Given the description of an element on the screen output the (x, y) to click on. 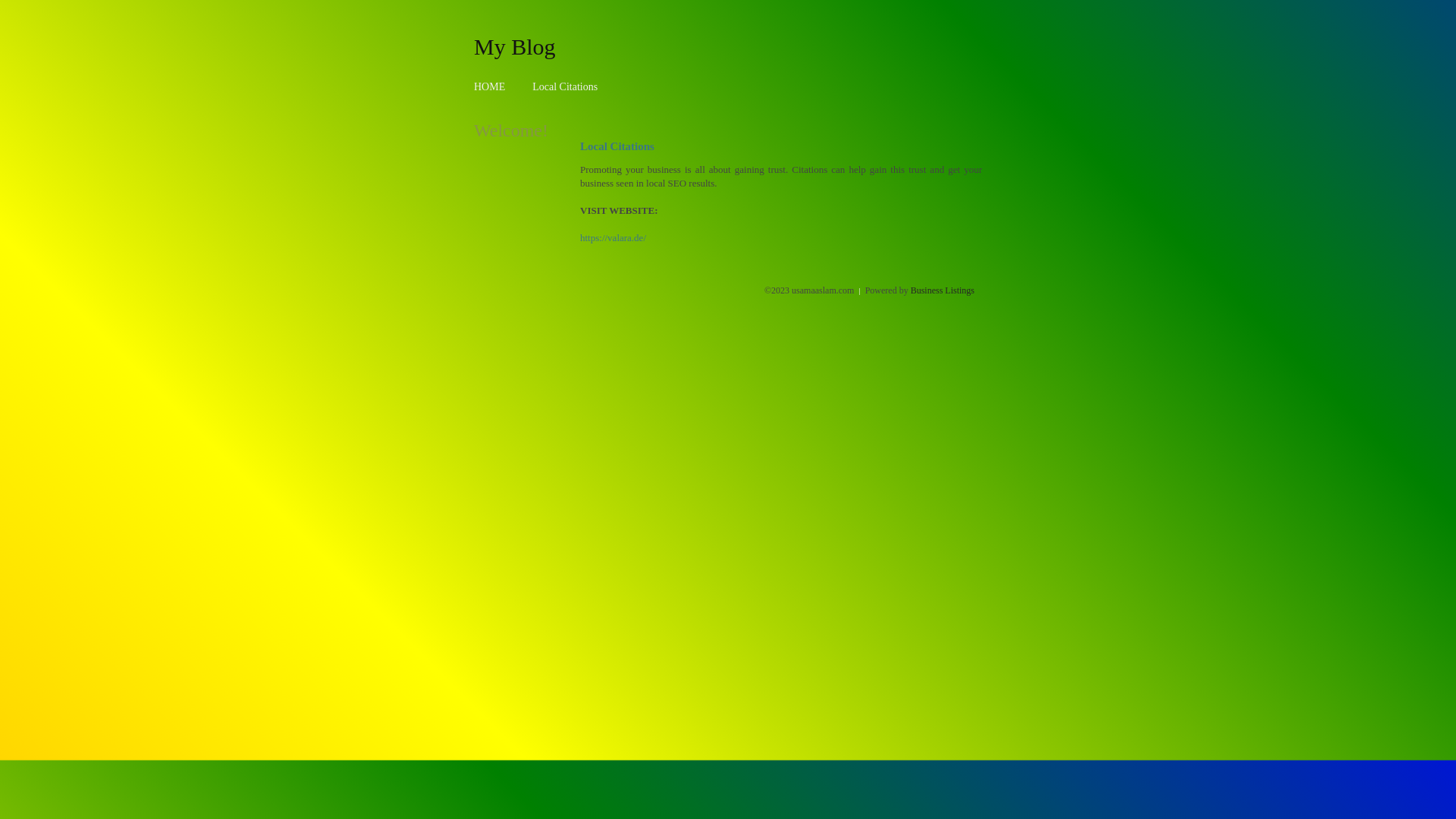
My Blog Element type: text (514, 46)
https://valara.de/ Element type: text (613, 237)
Business Listings Element type: text (942, 290)
HOME Element type: text (489, 86)
Local Citations Element type: text (564, 86)
